Given the description of an element on the screen output the (x, y) to click on. 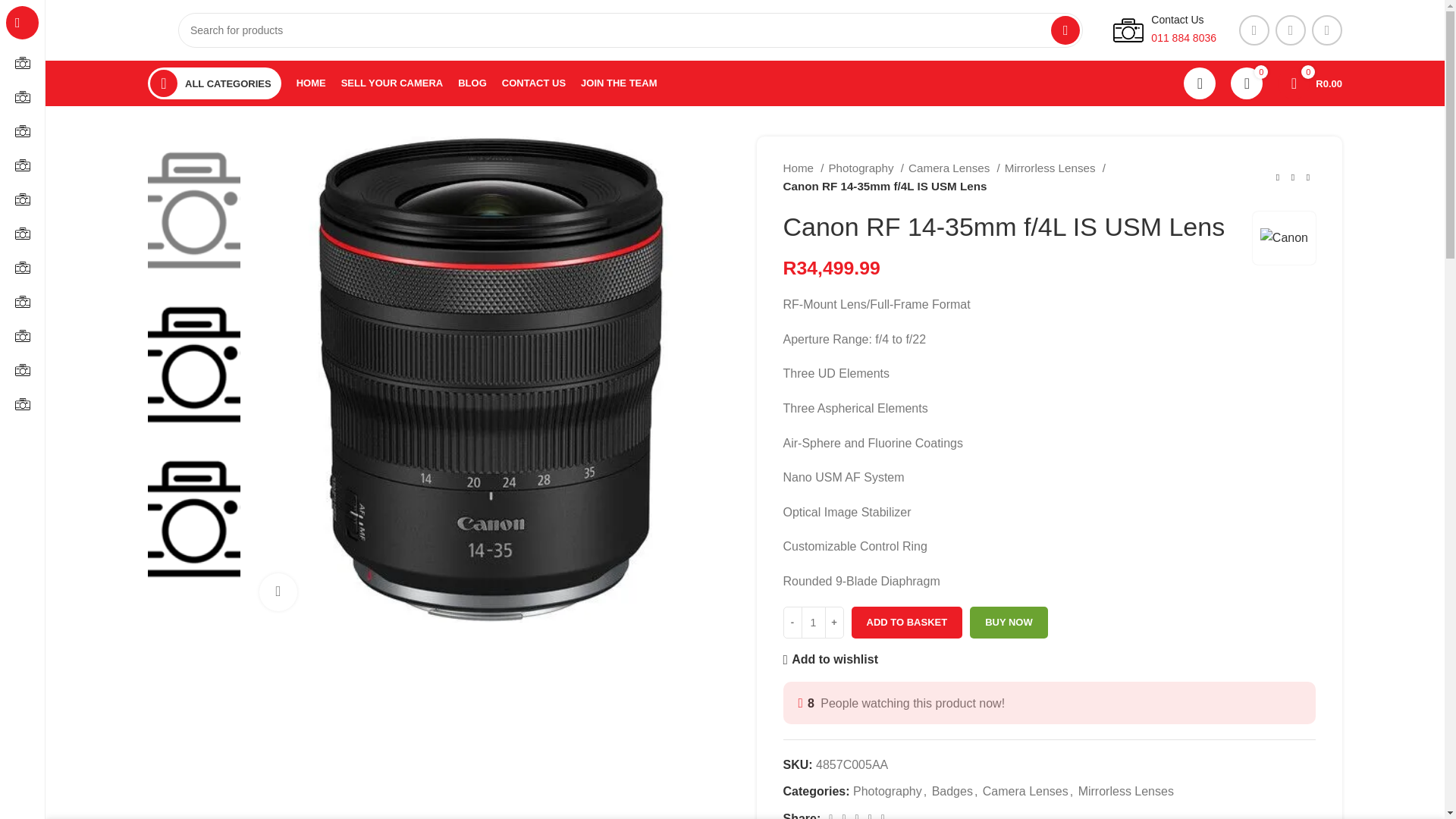
Canon (1283, 238)
My account (1199, 82)
Shopping cart (1309, 82)
My Wishlist (1246, 82)
Search for products (630, 30)
